Given the description of an element on the screen output the (x, y) to click on. 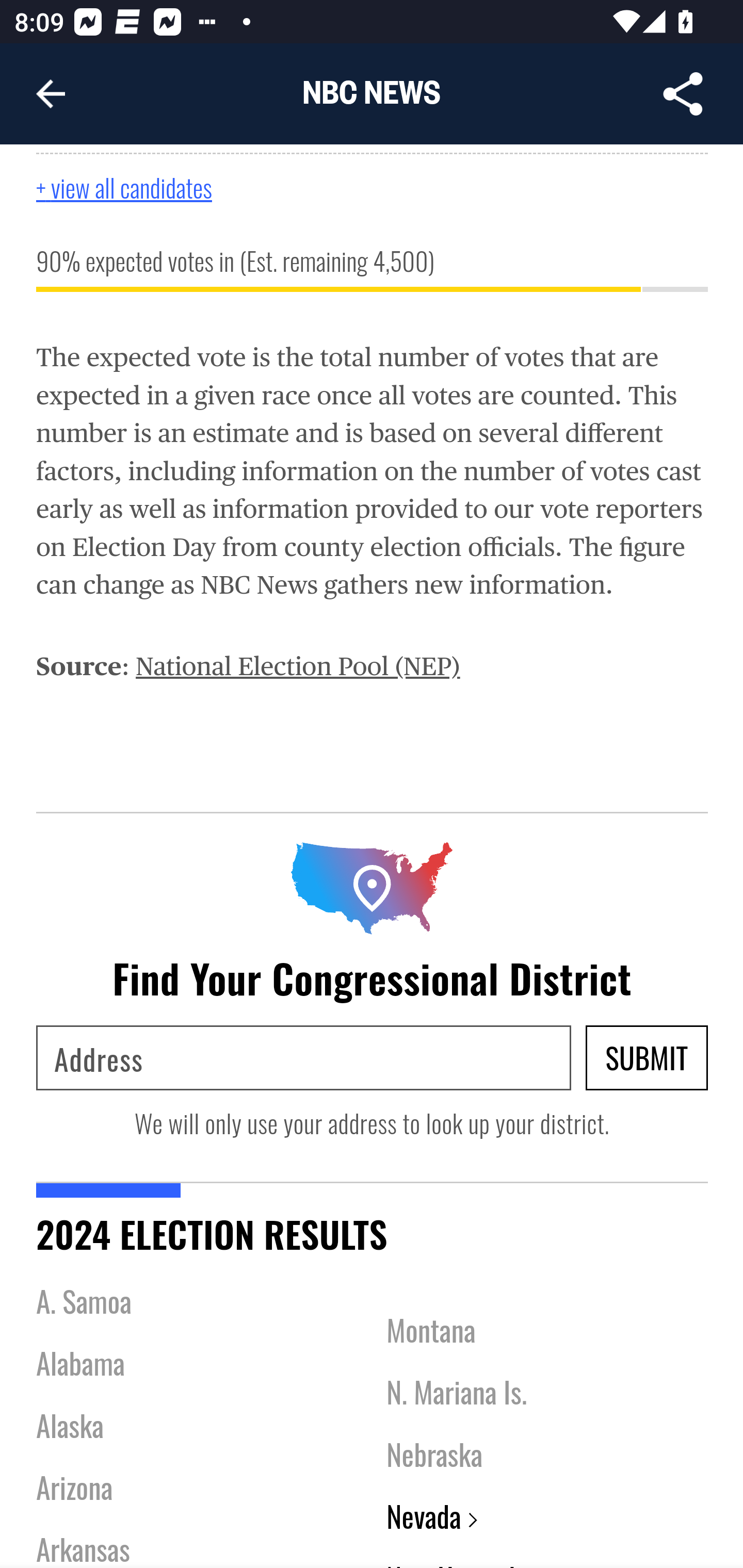
Navigate up (50, 93)
Share Article, button (683, 94)
view all candidates (144, 186)
National Election Pool (NEP) (297, 665)
SUBMIT (647, 1057)
Nevada (432, 1517)
